Given the description of an element on the screen output the (x, y) to click on. 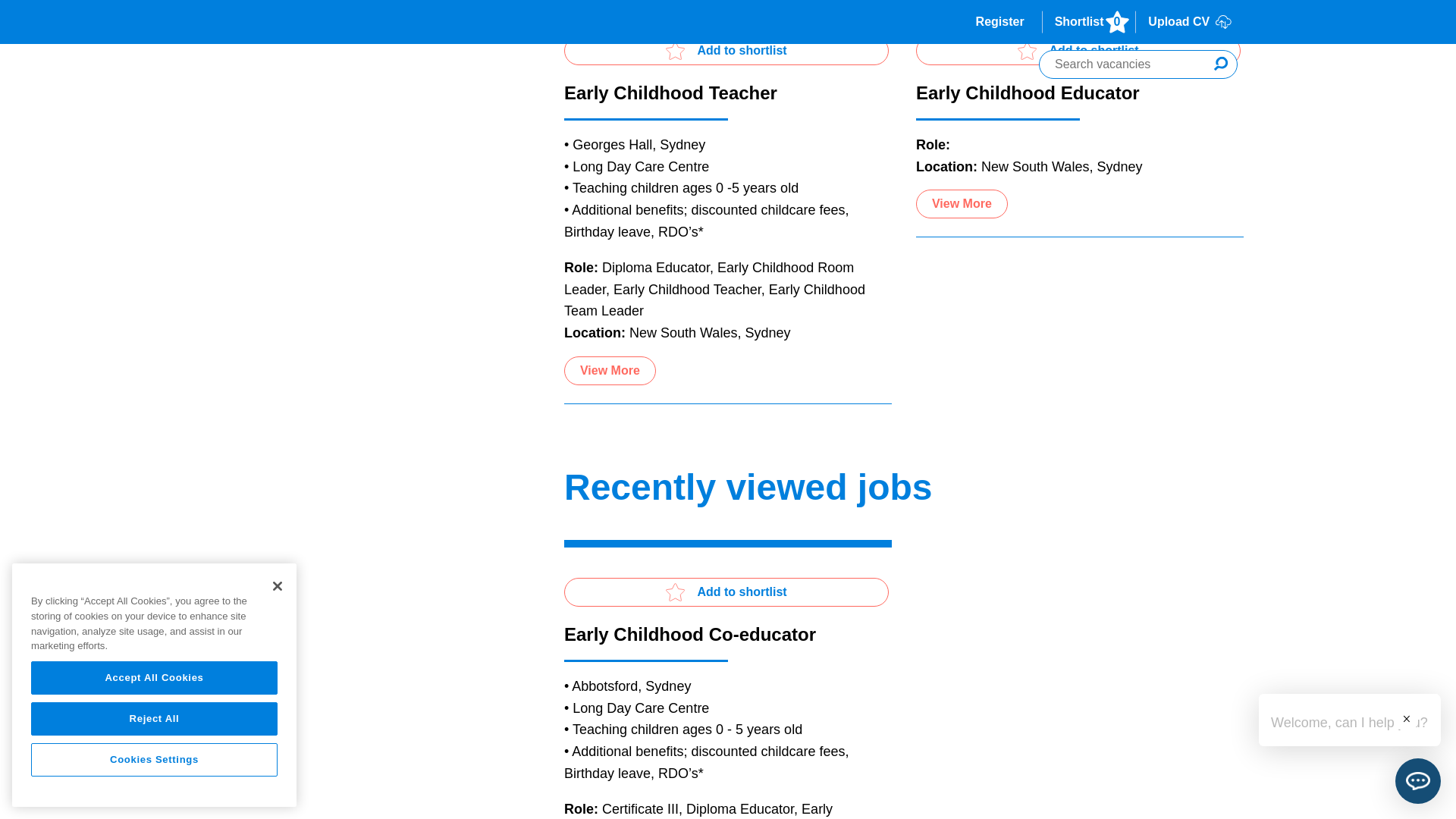
View More (961, 203)
shortlist star (674, 50)
View More (610, 370)
shortlist star (1026, 50)
shortlist star (674, 592)
